Given the description of an element on the screen output the (x, y) to click on. 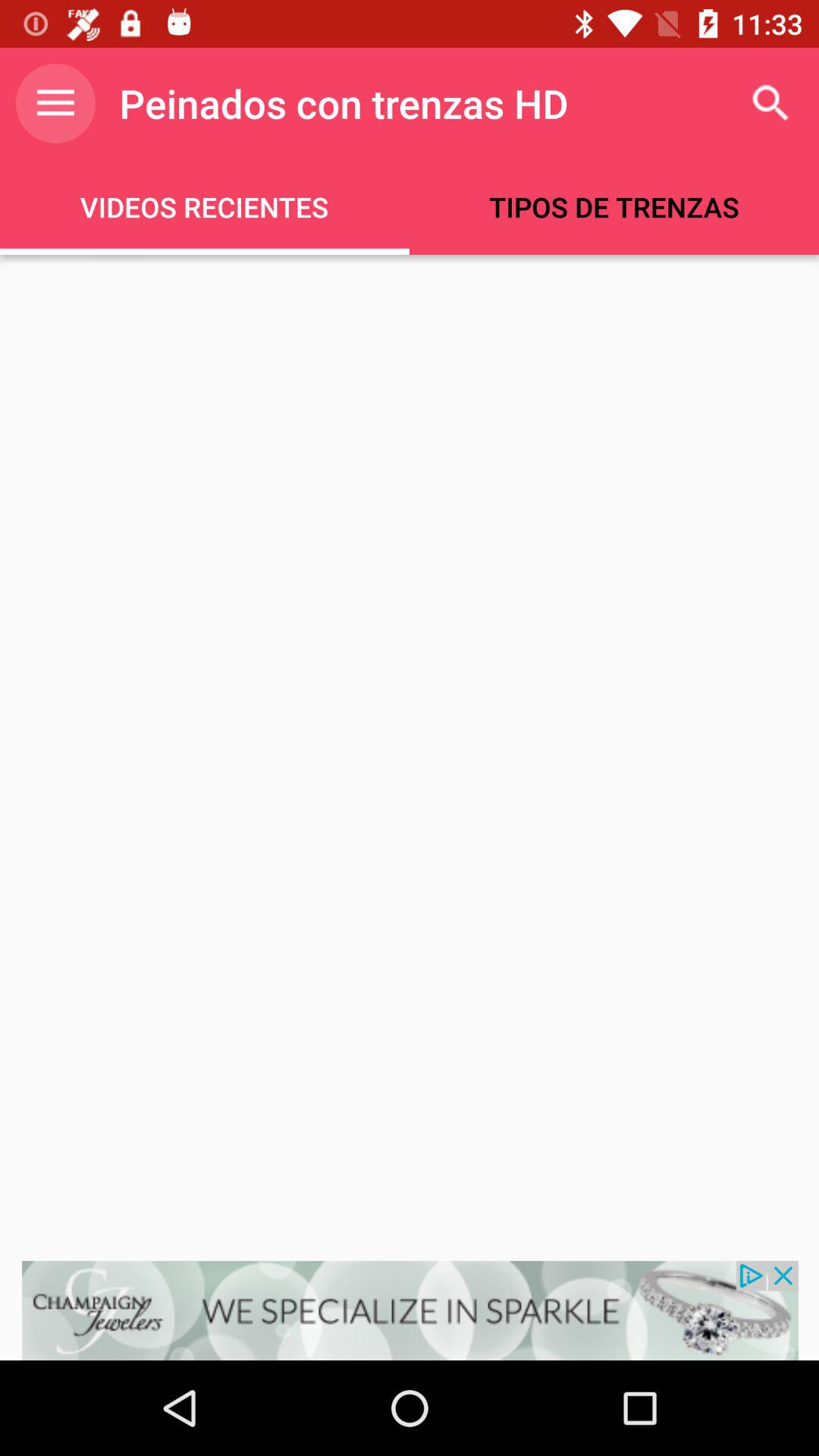
blank (409, 757)
